Given the description of an element on the screen output the (x, y) to click on. 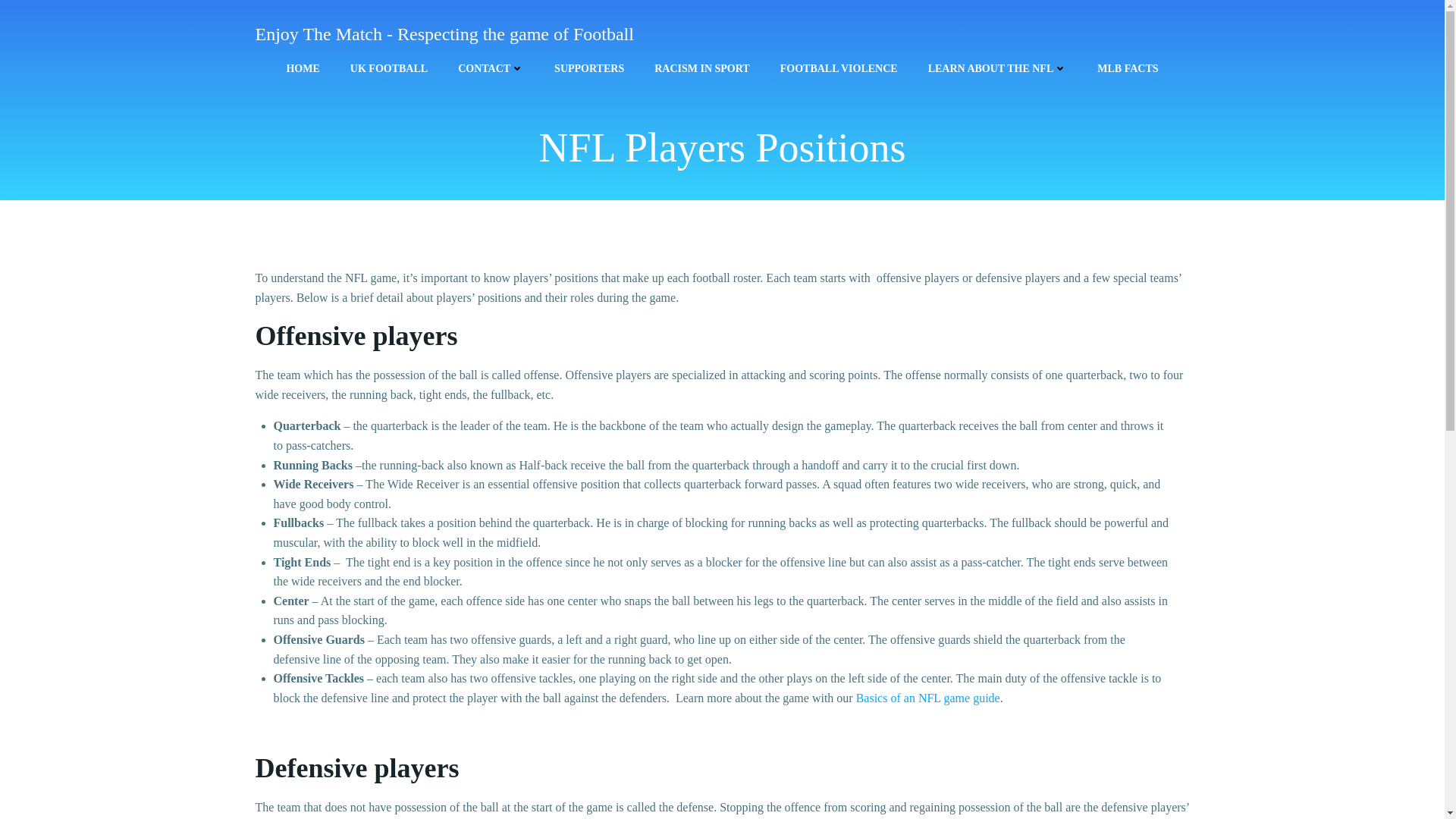
FOOTBALL VIOLENCE (839, 68)
Basics of an NFL game guide (928, 697)
HOME (301, 68)
LEARN ABOUT THE NFL (997, 68)
CONTACT (491, 68)
MLB FACTS (1127, 68)
UK FOOTBALL (389, 68)
RACISM IN SPORT (701, 68)
SUPPORTERS (589, 68)
Enjoy The Match - Respecting the game of Football (443, 33)
